Given the description of an element on the screen output the (x, y) to click on. 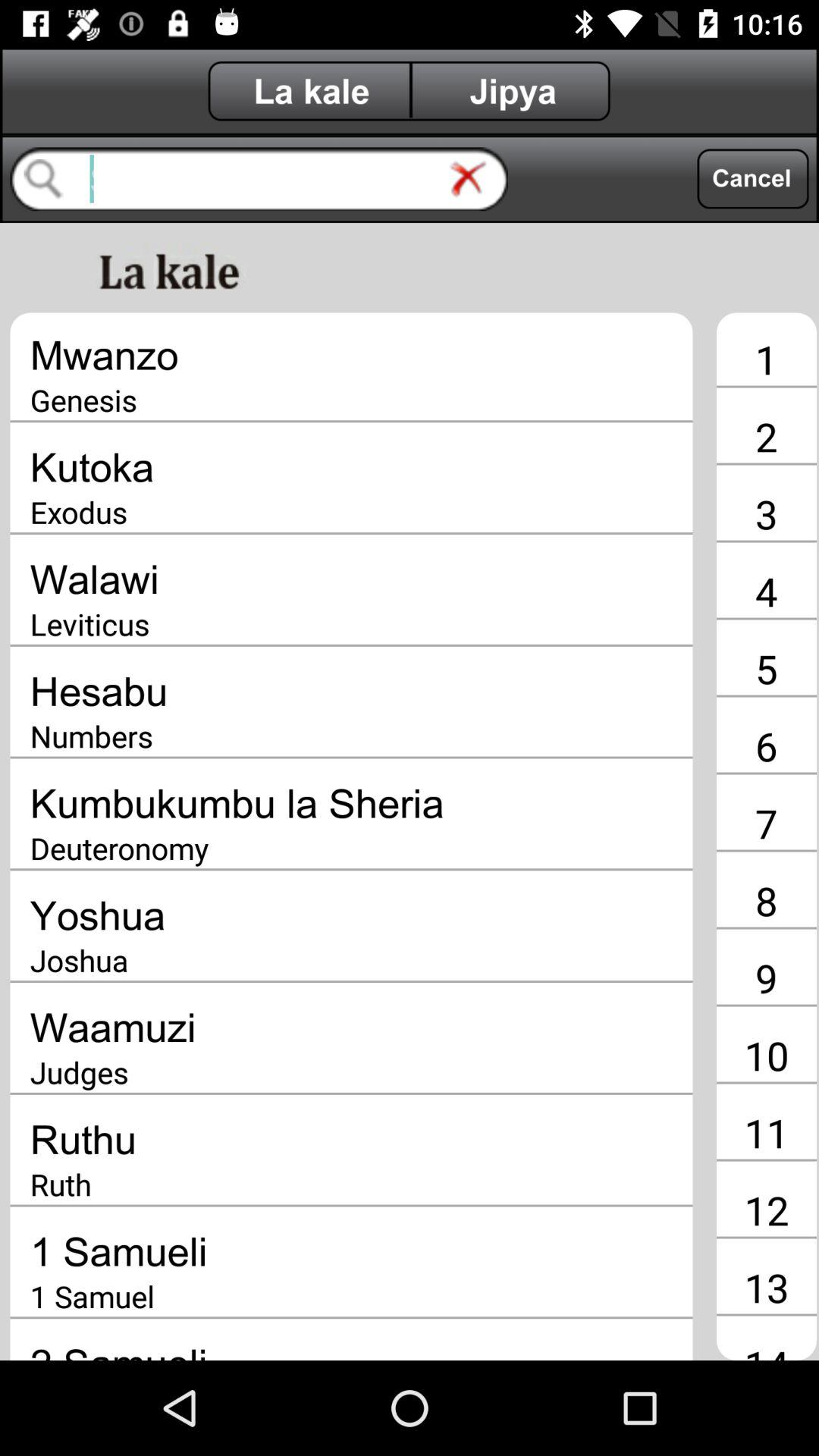
choose 7 icon (766, 822)
